Given the description of an element on the screen output the (x, y) to click on. 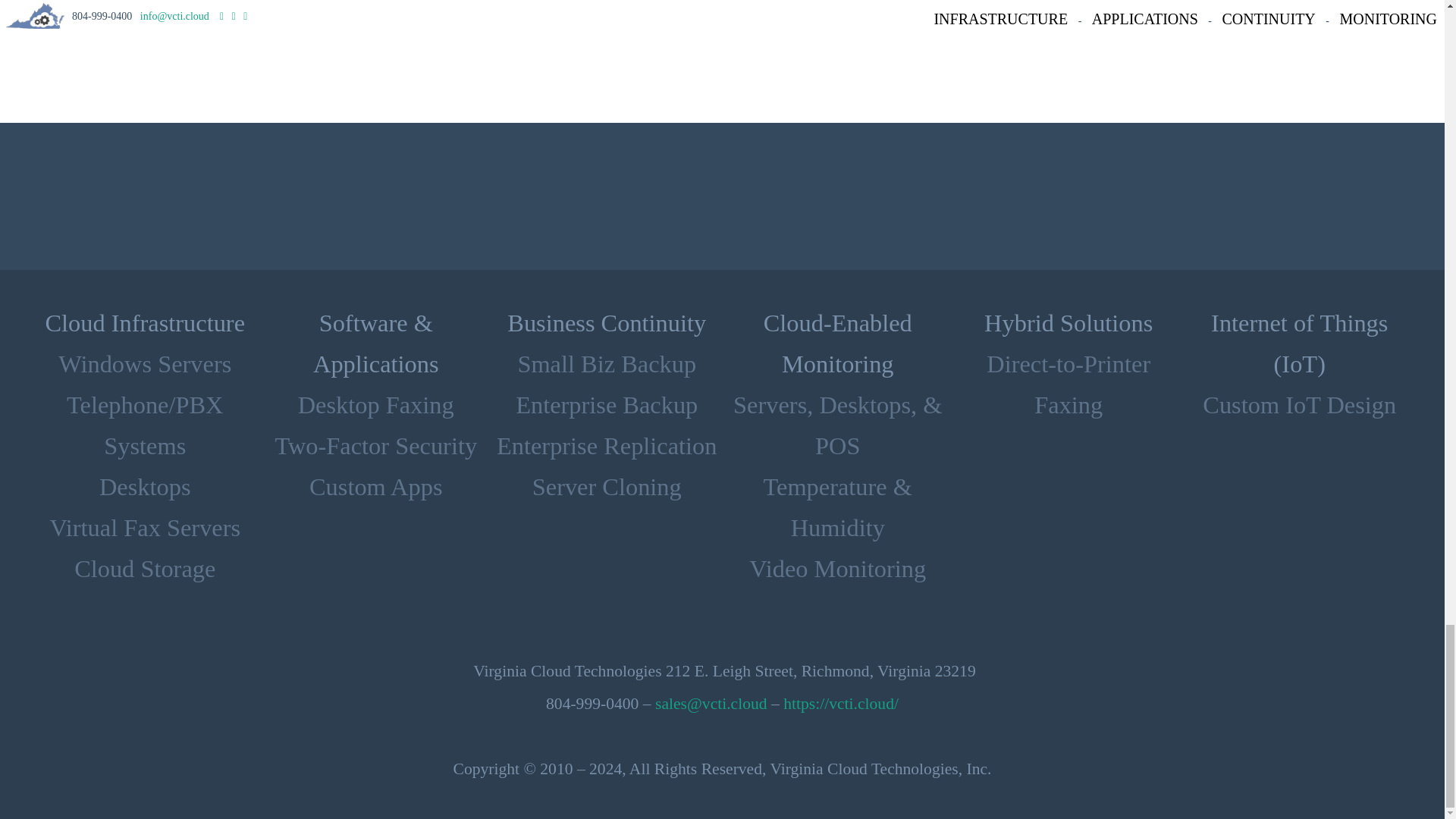
Desktops (144, 486)
Virtual Fax Servers (144, 527)
Server Cloning (606, 486)
Two-Factor Security (376, 445)
Enterprise Replication (606, 445)
Custom Apps (375, 486)
Enterprise Backup (606, 404)
Direct-to-Printer Faxing (1068, 384)
Video Monitoring (837, 568)
Small Biz Backup (605, 363)
